Given the description of an element on the screen output the (x, y) to click on. 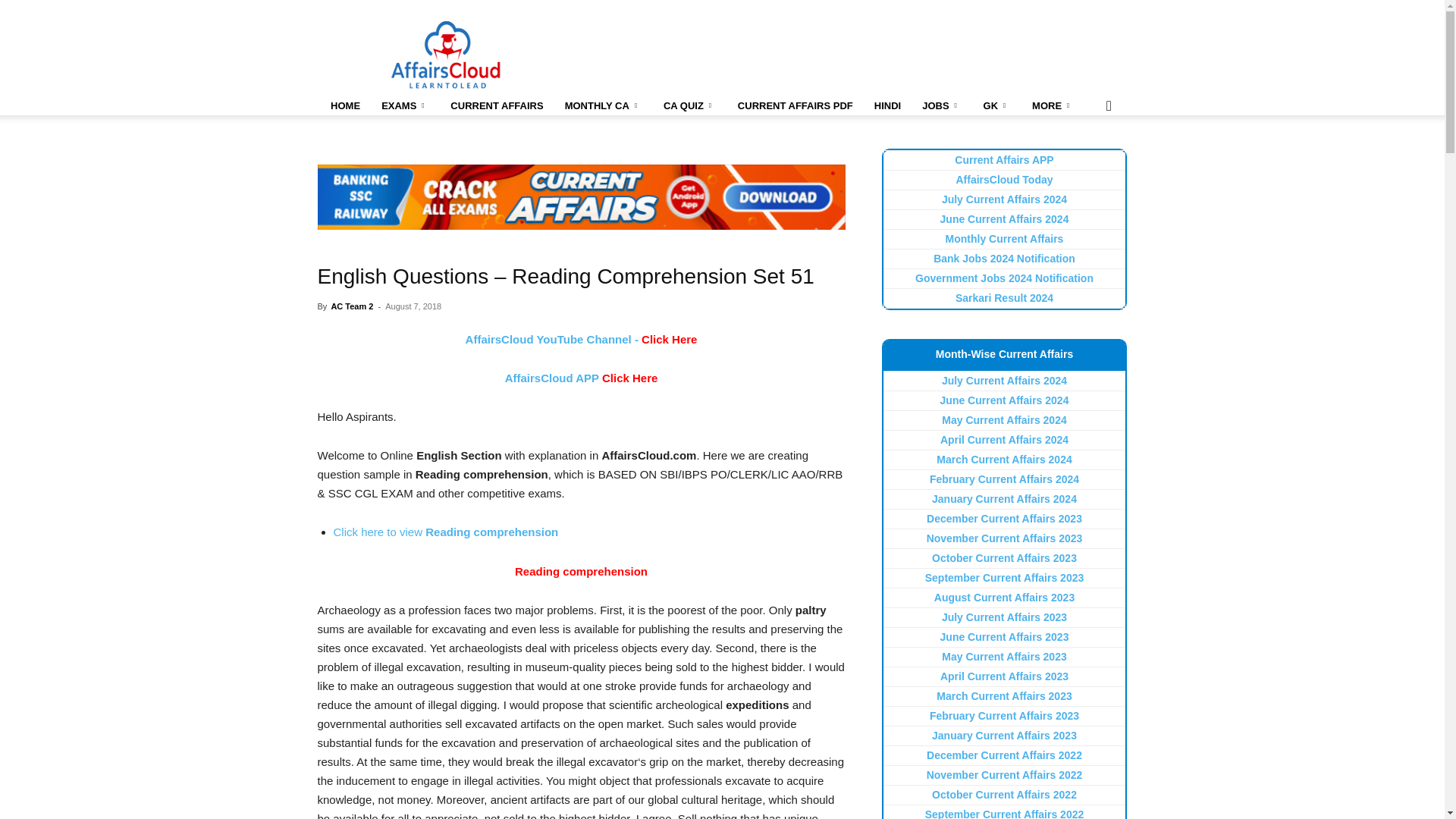
Current Affairs (496, 105)
AffairsCloud (446, 55)
Current Affairs Quiz (689, 105)
Current Affairs PDF (794, 105)
Current Affairs Hindi (887, 105)
Home (344, 105)
